Given the description of an element on the screen output the (x, y) to click on. 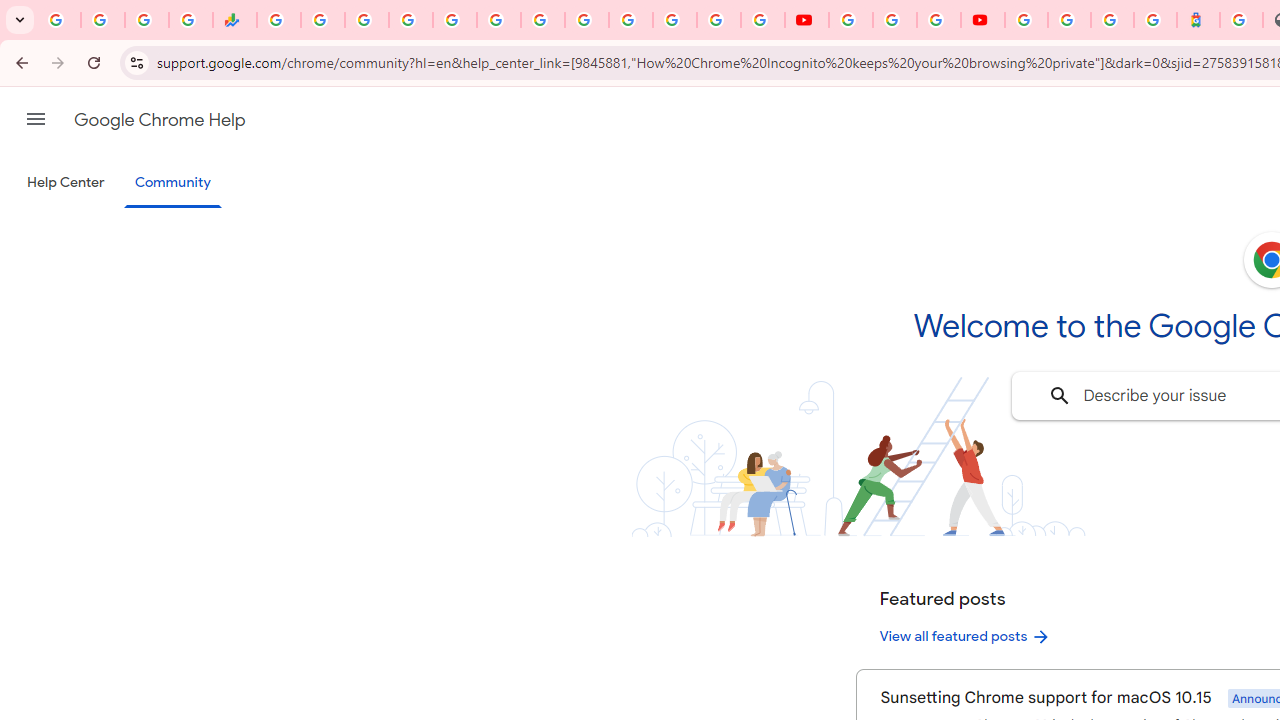
View all featured posts (965, 636)
Privacy Checkup (762, 20)
YouTube (806, 20)
Google Workspace Admin Community (58, 20)
